Given the description of an element on the screen output the (x, y) to click on. 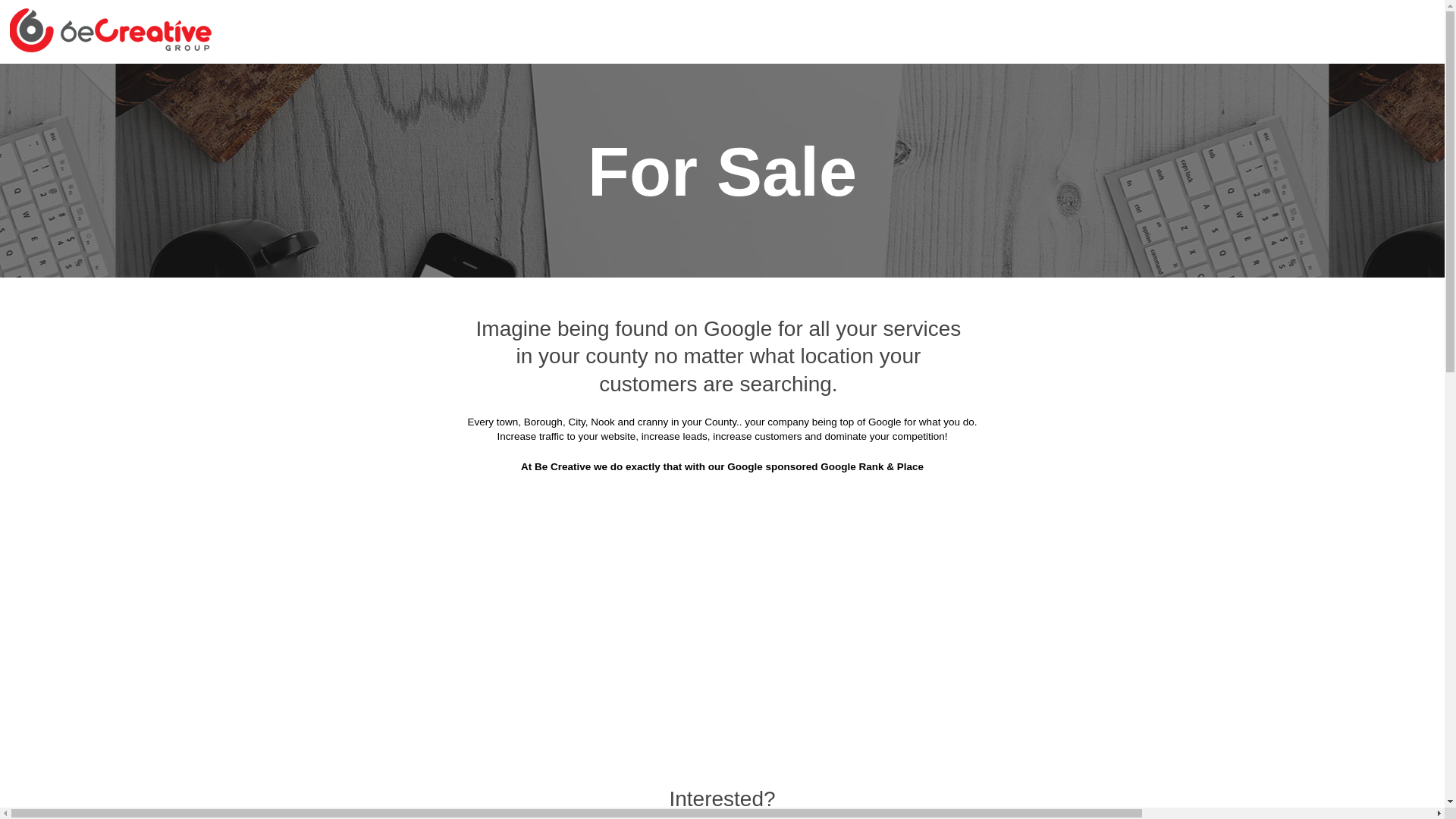
Aggregate Suppliers Camelford Cornwall (390, 234)
Aggregate Suppliers Barnstaple Devon (395, 121)
Aggregate Suppliers Kingsteignton Devon (388, 422)
Aggregate Suppliers Falmouth Cornwall (600, 309)
Aggregate Suppliers Ashburton Devon (855, 83)
Aggregate Suppliers Brixham Devon (632, 158)
Aggregate Suppliers Kingsbridge Devon (1074, 383)
Aggregate Suppliers Fowey Cornwall (824, 309)
Aggregate Suppliers Camborne Cornwall (1072, 196)
Aggregate Suppliers Dartmouth Devon (443, 271)
Aggregate Suppliers Bovey Tracey Devon (1070, 121)
Aggregate Suppliers Launceston Cornwall (632, 422)
Aggregate Suppliers Ivybridge Devon (848, 383)
Aggregate Suppliers Devon (660, 83)
Aggregate Suppliers Hatherleigh Devon (409, 346)
